Given the description of an element on the screen output the (x, y) to click on. 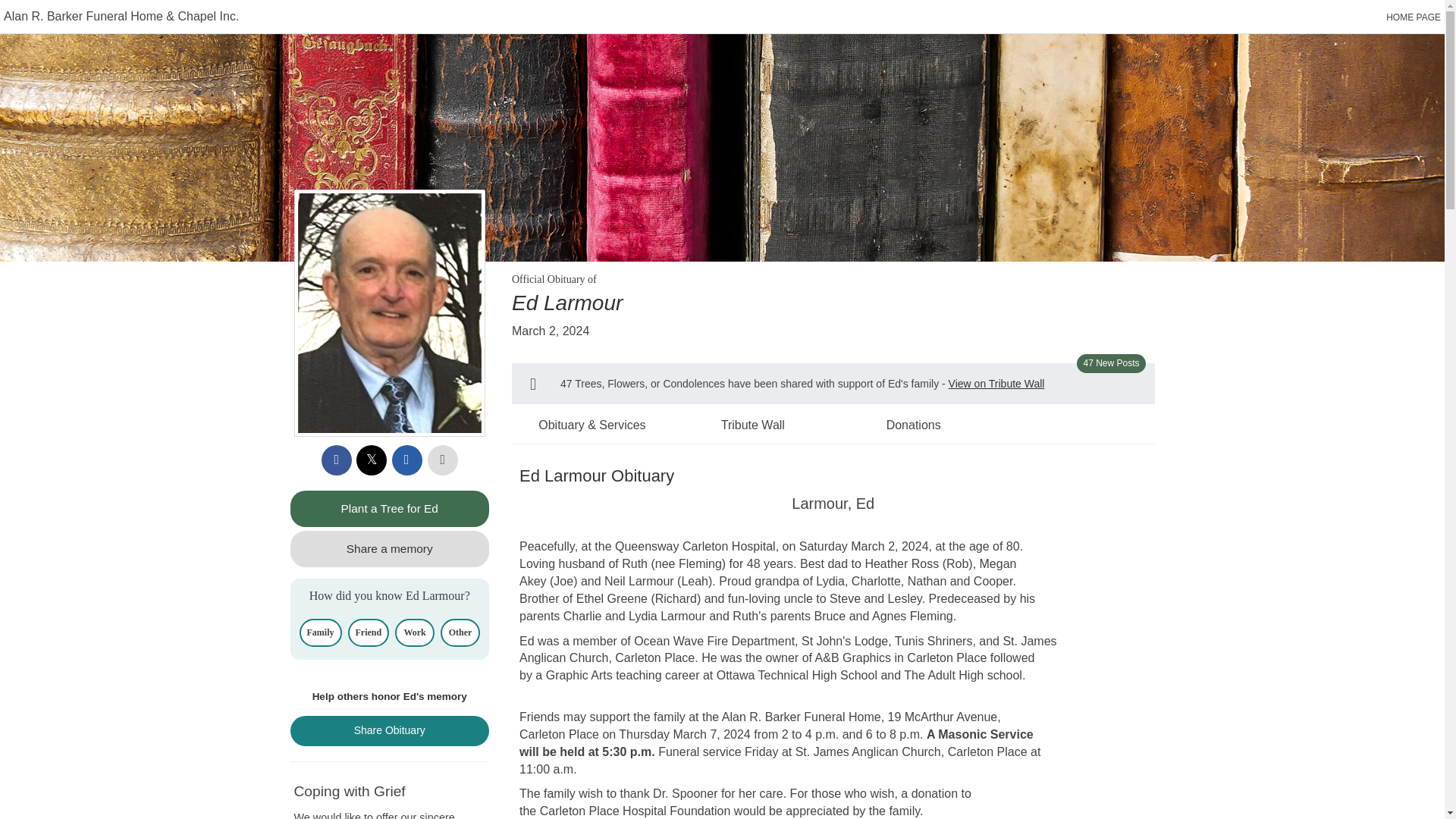
Share on X (371, 460)
Share to Facebook (336, 460)
Share Obituary (389, 730)
View on Tribute Wall (997, 383)
Share a memory (389, 548)
Printable copy (443, 460)
Share via email (406, 460)
Plant a Tree for Ed (389, 508)
HOME PAGE (1413, 17)
